Given the description of an element on the screen output the (x, y) to click on. 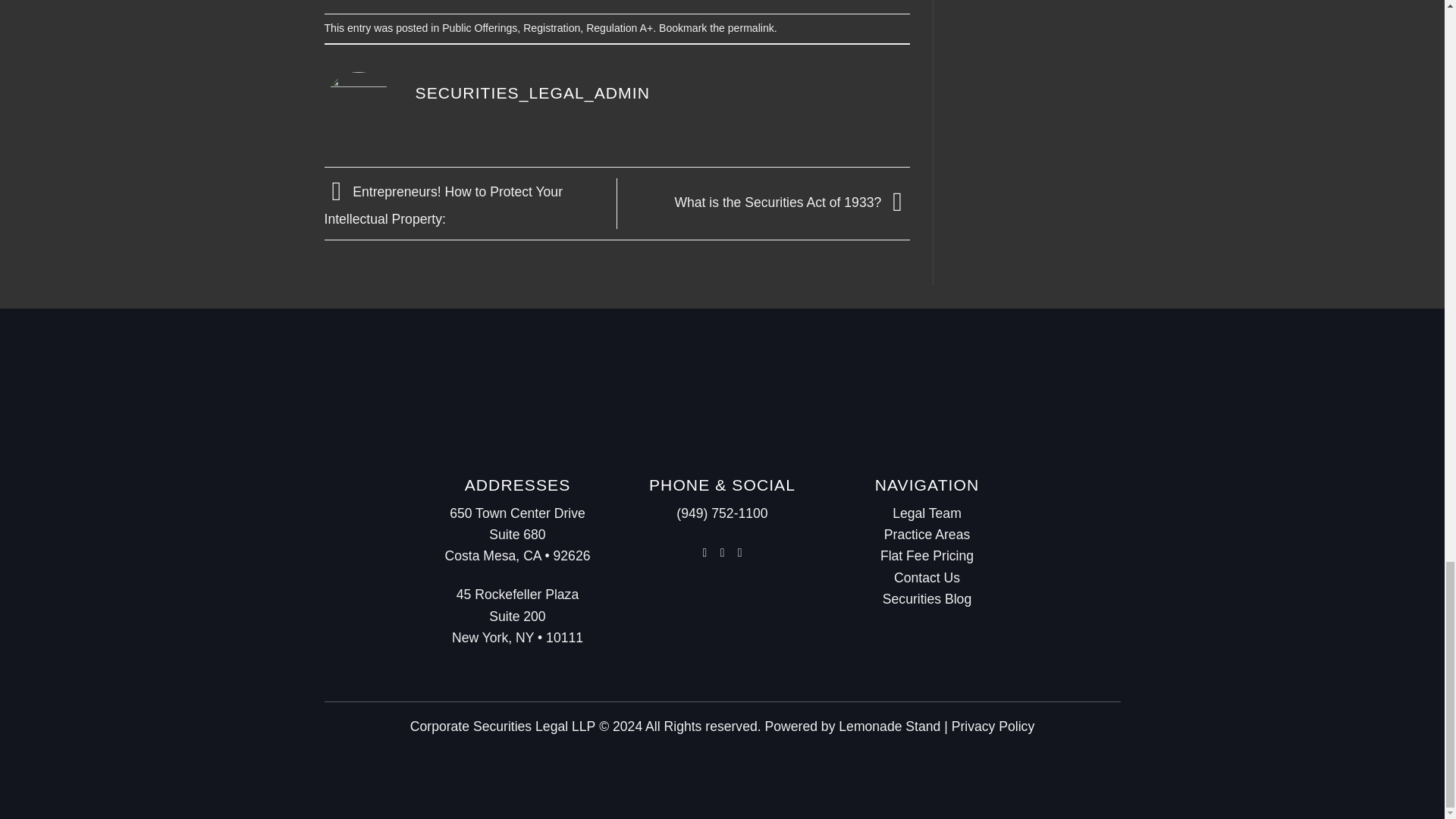
Registration (550, 28)
Public Offerings (479, 28)
permalink (751, 28)
Entrepreneurs! How to Protect Your Intellectual Property: (443, 205)
What is the Securities Act of 1933? (792, 201)
